Given the description of an element on the screen output the (x, y) to click on. 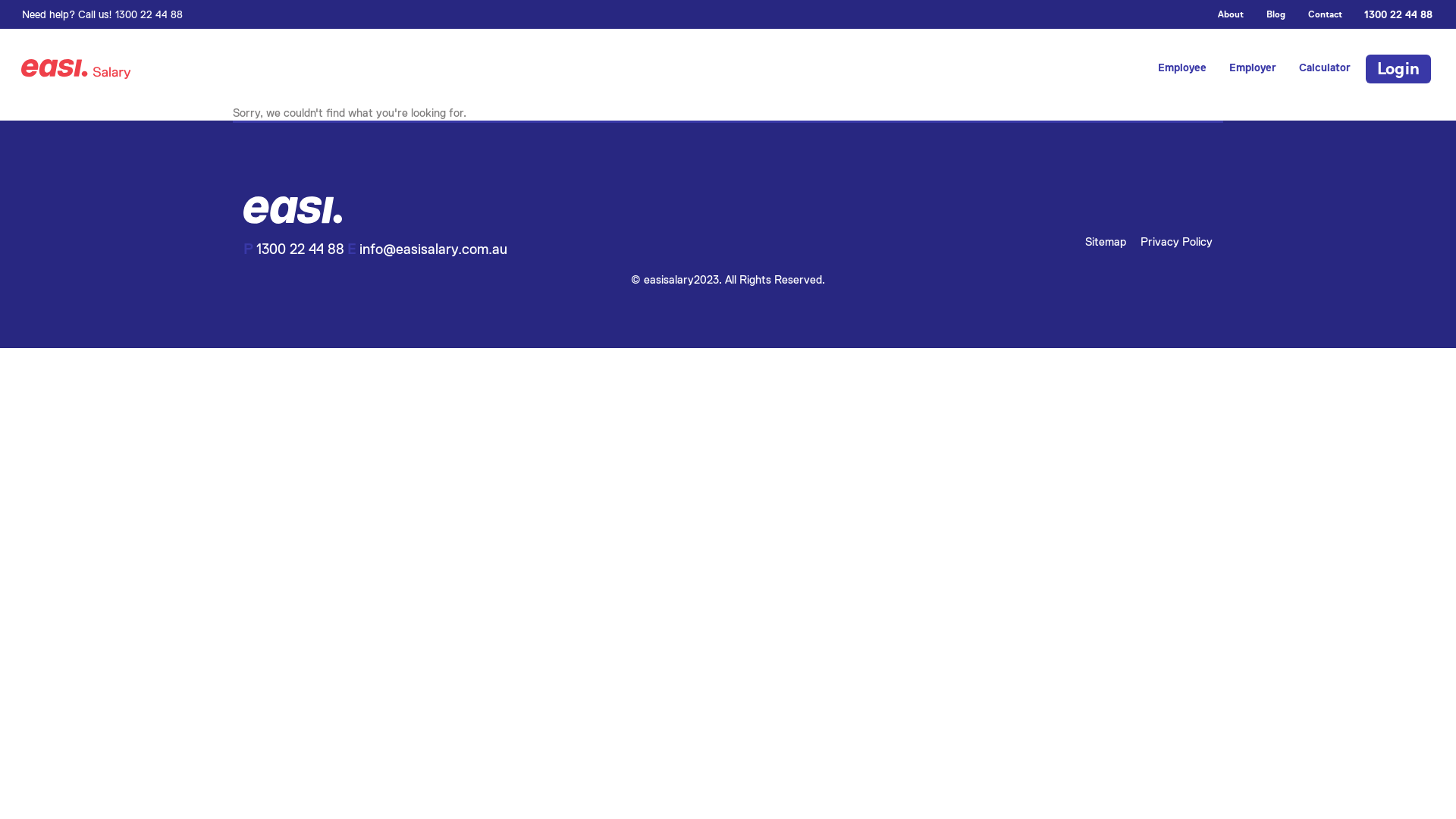
Employee Element type: text (1181, 67)
[Skip to Content] Element type: text (20, 49)
Blog Element type: text (1275, 14)
Calculator Element type: text (1324, 67)
info@easisalary.com.au Element type: text (433, 249)
Sitemap Element type: text (1105, 241)
Login Element type: text (1397, 68)
Privacy Policy Element type: text (1176, 241)
Employer Element type: text (1252, 67)
1300 22 44 88 Element type: text (300, 249)
About Element type: text (1230, 14)
1300 22 44 88 Element type: text (1392, 13)
Contact Element type: text (1324, 14)
